Given the description of an element on the screen output the (x, y) to click on. 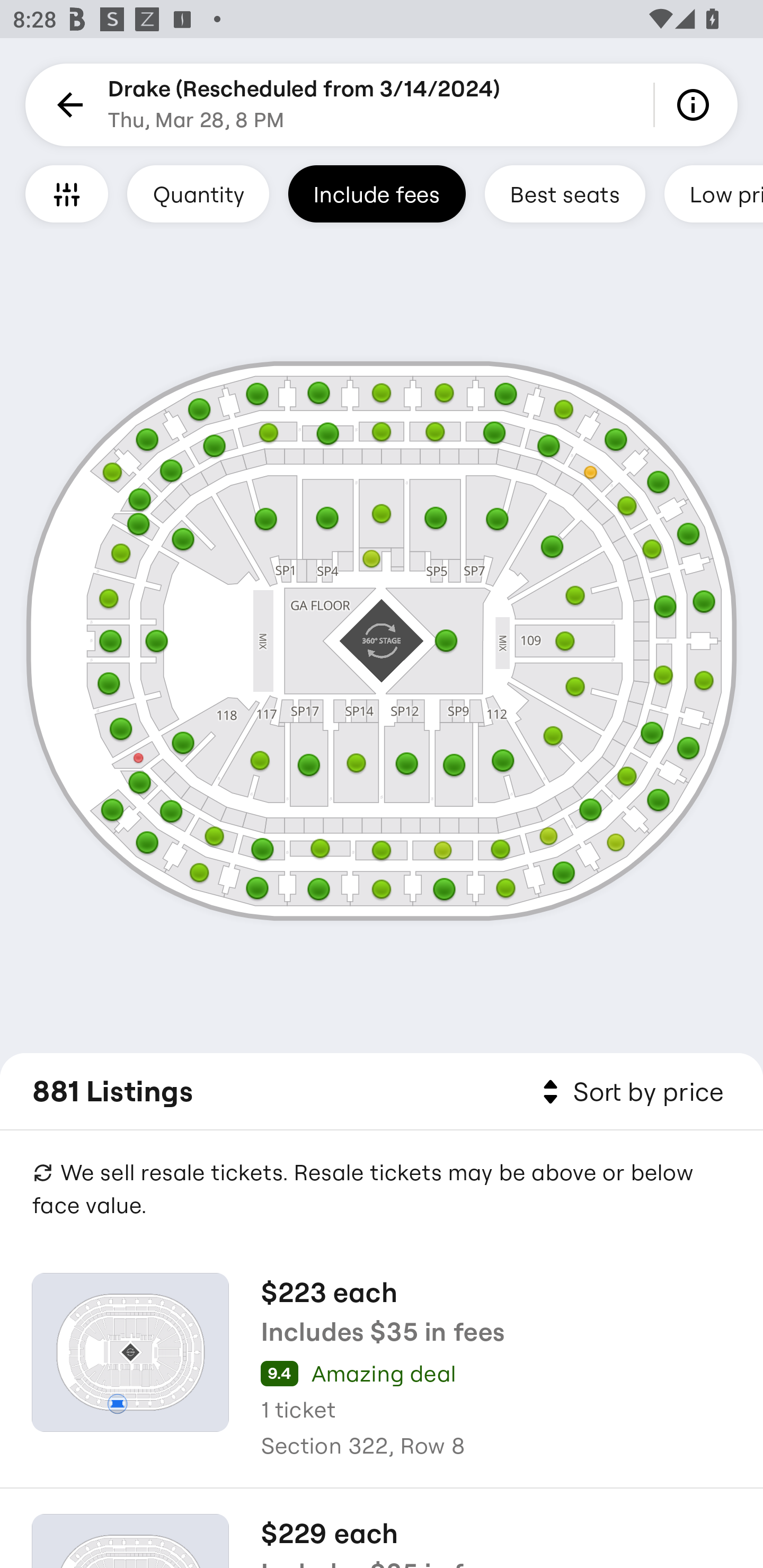
Back (66, 104)
Info (695, 104)
Filters and Accessible Seating (66, 193)
Quantity (198, 193)
Include fees (376, 193)
Best seats (564, 193)
Sort by price (629, 1091)
